Given the description of an element on the screen output the (x, y) to click on. 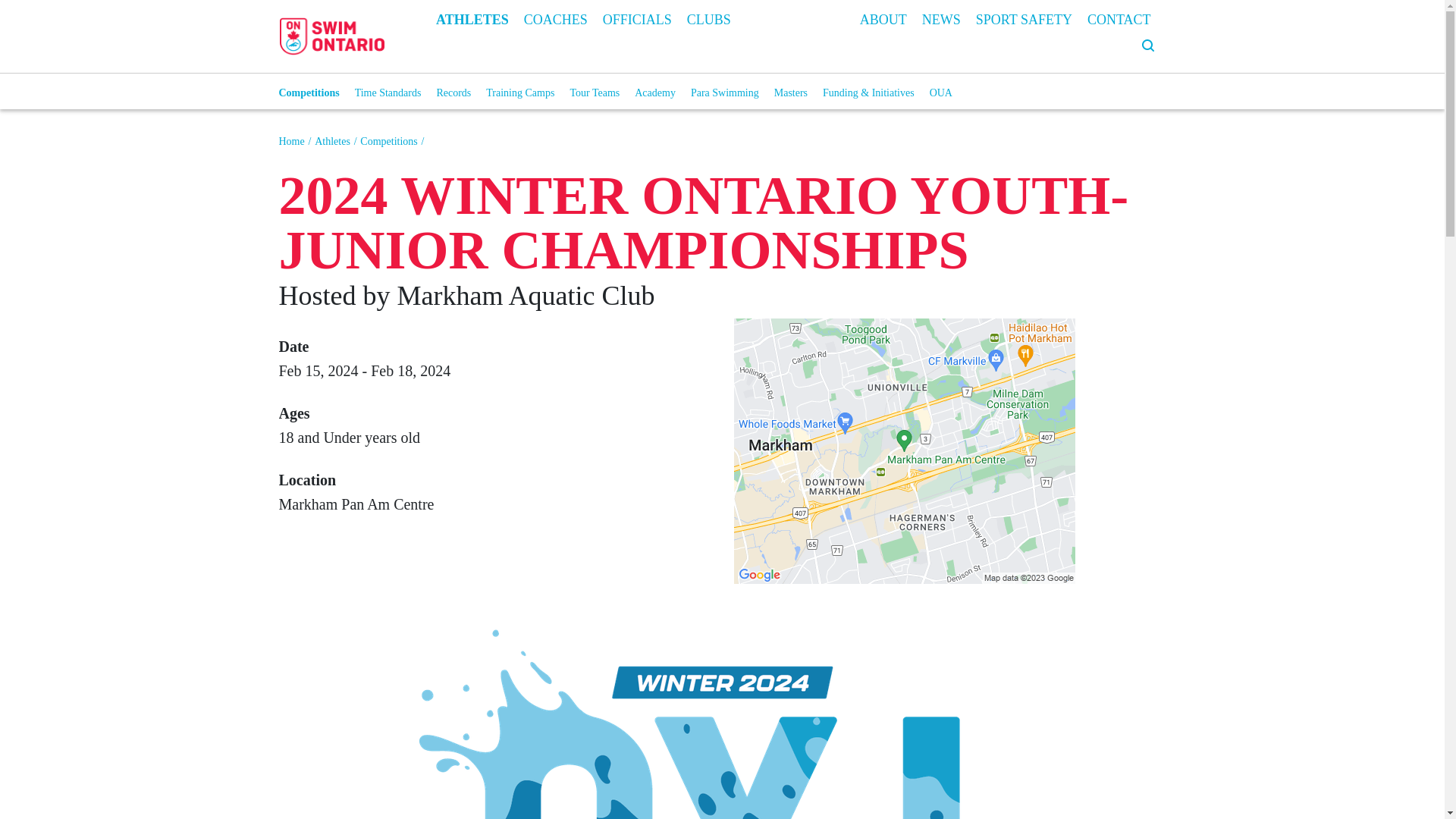
Time Standards (388, 92)
Athletes (332, 141)
ABOUT (883, 18)
CLUBS (708, 18)
Home (291, 141)
Records (452, 92)
CONTACT (1119, 18)
Academy (654, 92)
Competitions (387, 141)
Competitions (309, 92)
